Given the description of an element on the screen output the (x, y) to click on. 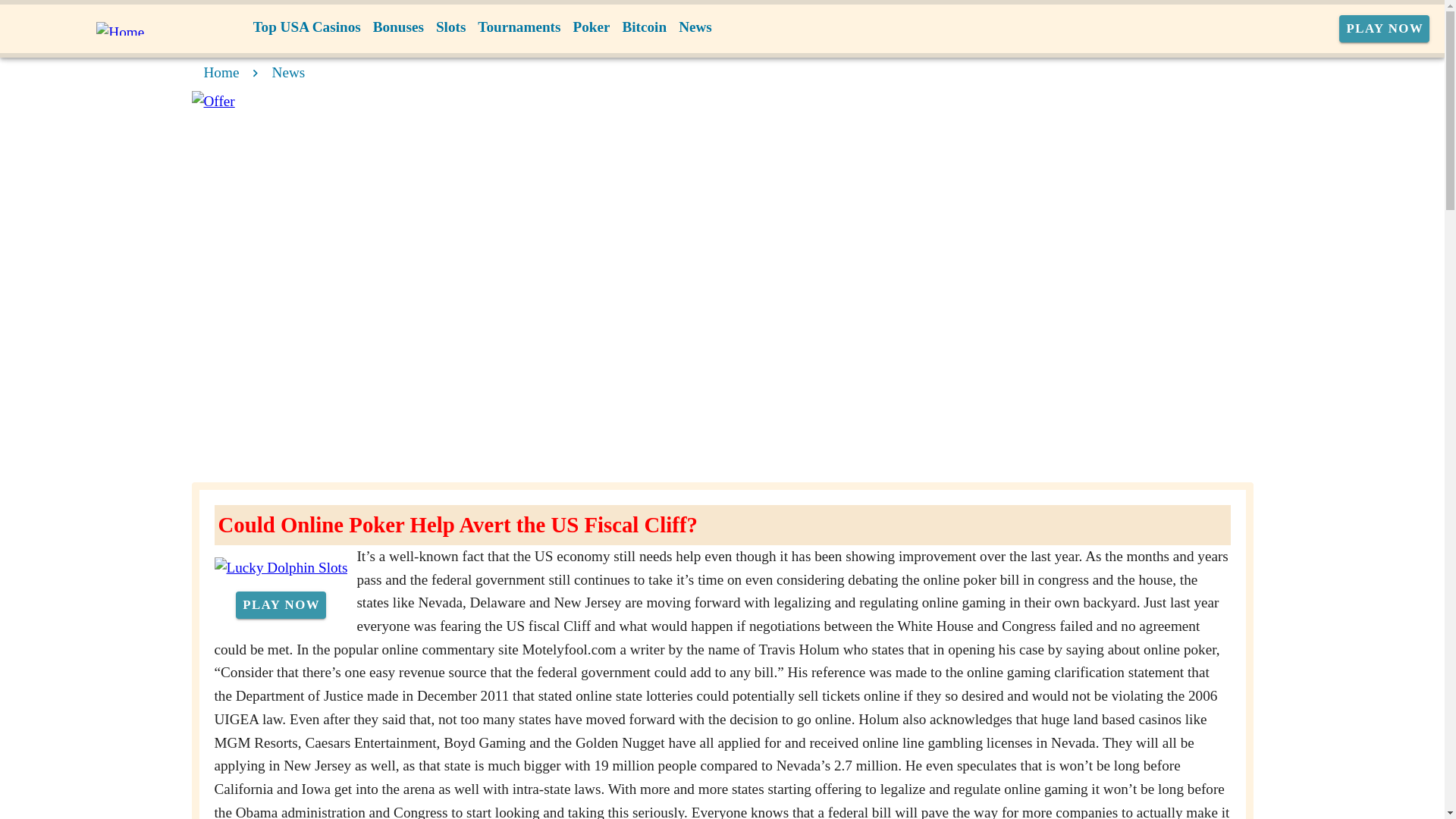
Top USA Casinos (306, 27)
Tournaments (518, 27)
PLAY NOW (1384, 28)
Bitcoin (643, 27)
News (288, 72)
Poker (590, 27)
PLAY NOW (280, 605)
Bonuses (397, 27)
News (694, 27)
Slots (450, 27)
